Given the description of an element on the screen output the (x, y) to click on. 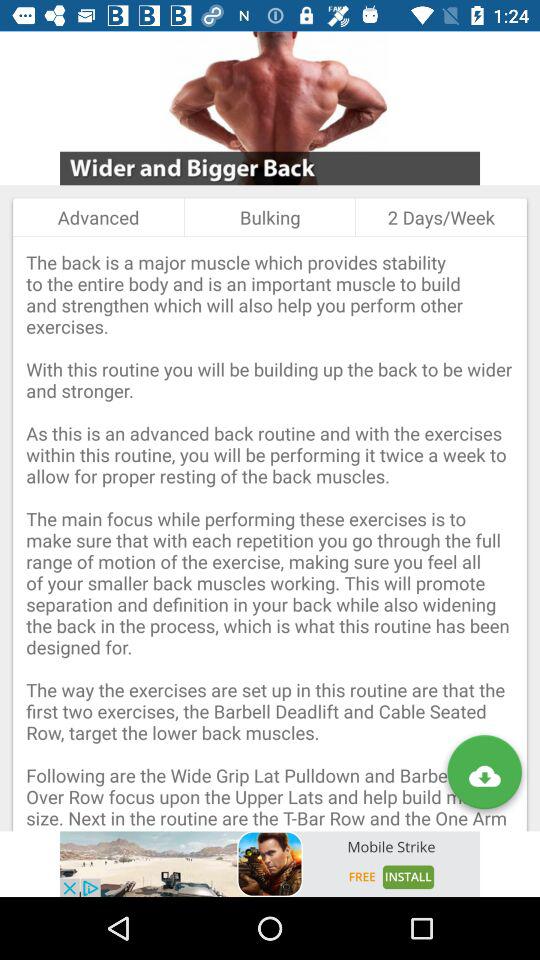
visit advertiser (270, 864)
